Given the description of an element on the screen output the (x, y) to click on. 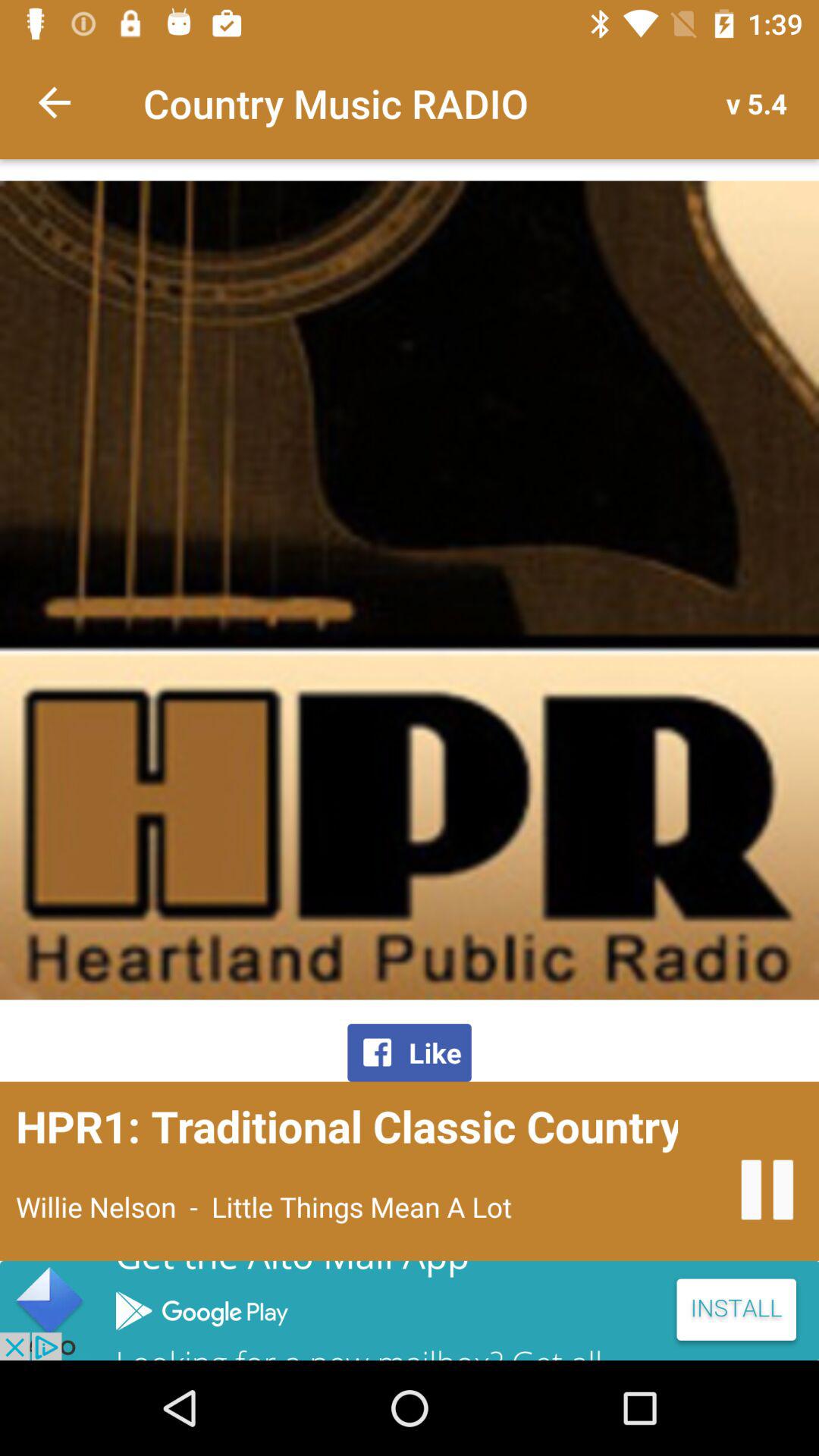
pause audio (767, 1189)
